Given the description of an element on the screen output the (x, y) to click on. 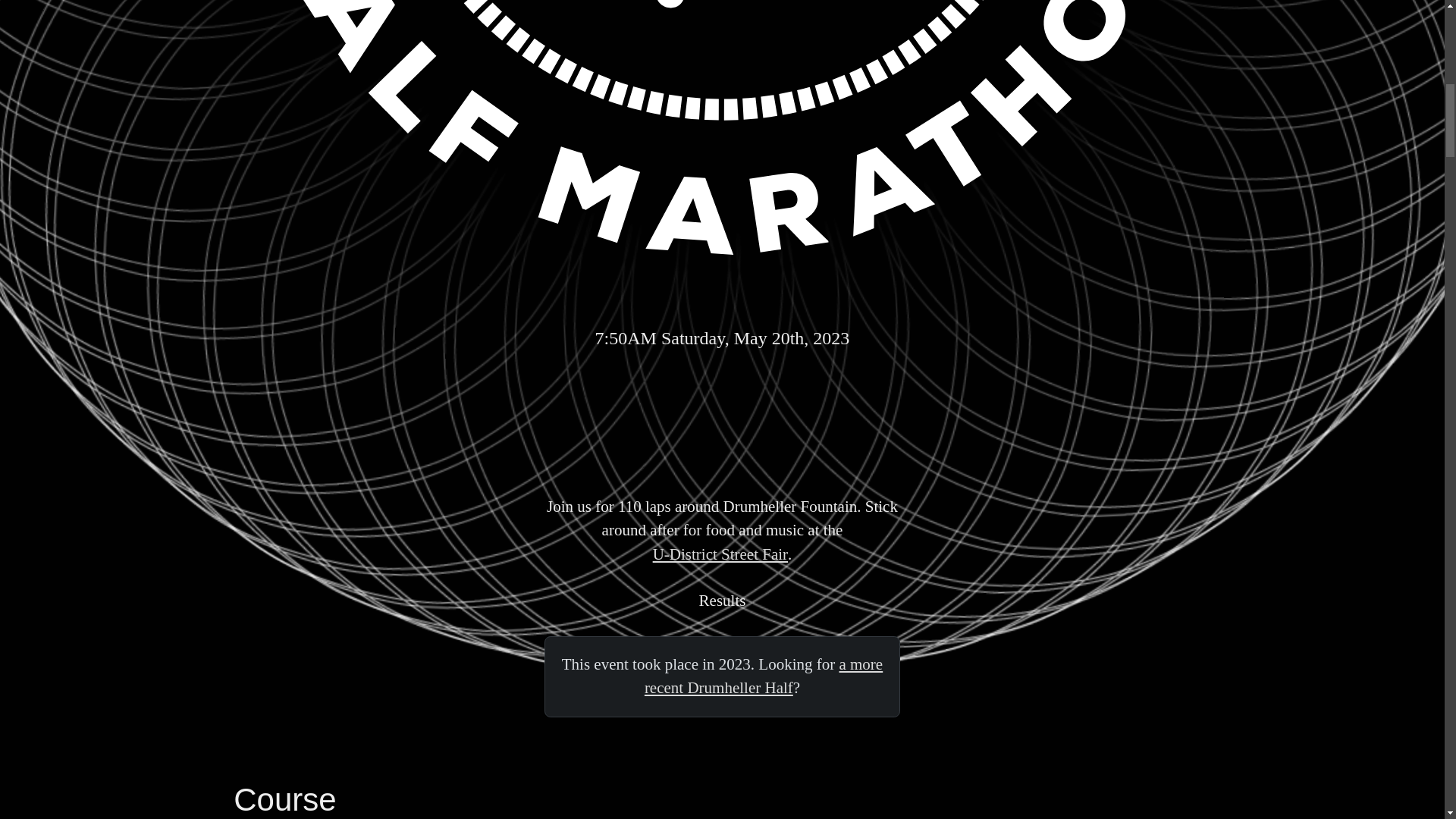
U-District Street Fair (719, 554)
Results (721, 600)
a more recent Drumheller Half (763, 676)
